Given the description of an element on the screen output the (x, y) to click on. 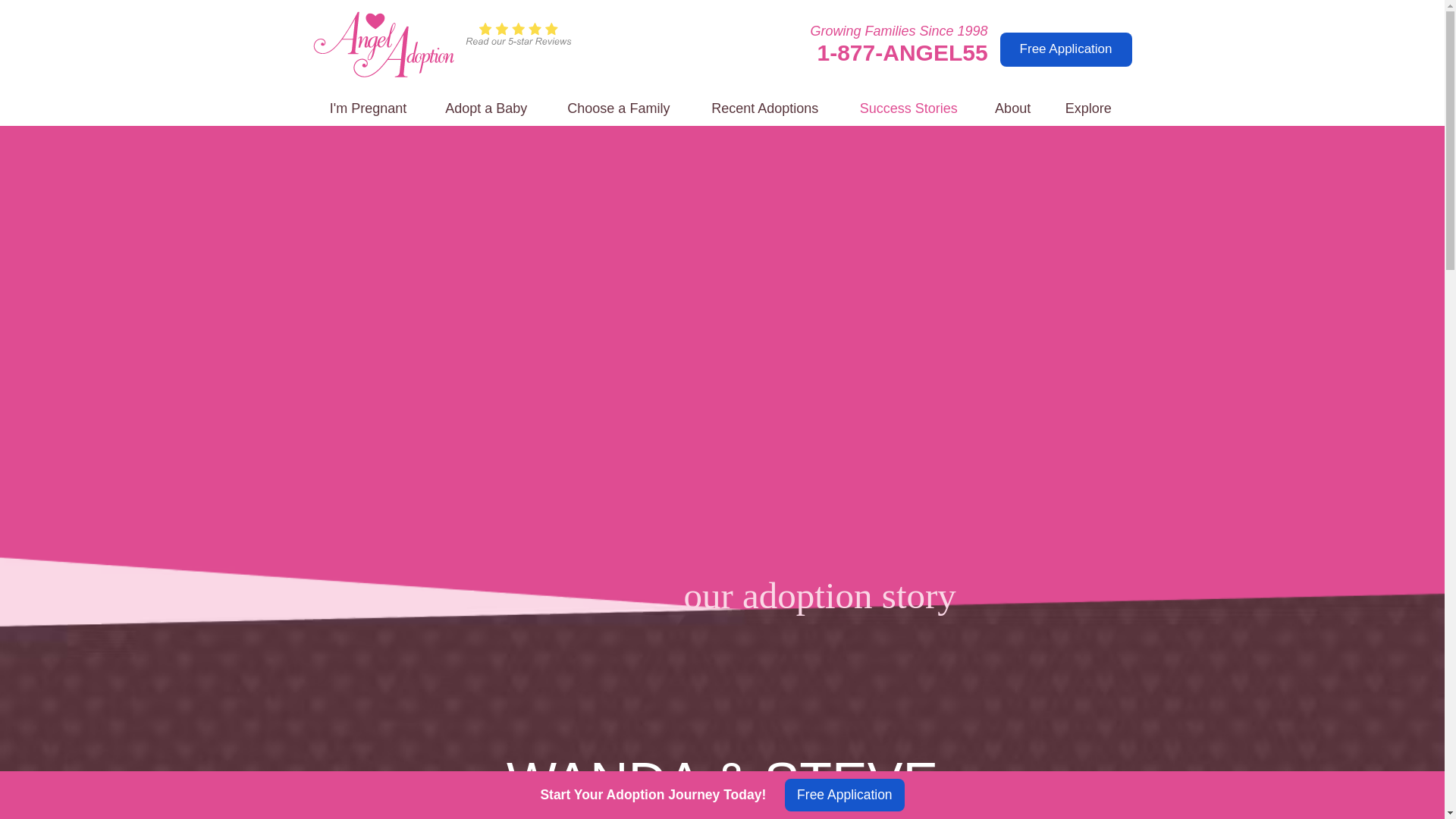
1-877-ANGEL55 (902, 52)
I'm Pregnant (368, 109)
Waiting Families (618, 109)
Adopt a Baby (486, 109)
Free Application (1066, 49)
Choose a Family (618, 109)
